Given the description of an element on the screen output the (x, y) to click on. 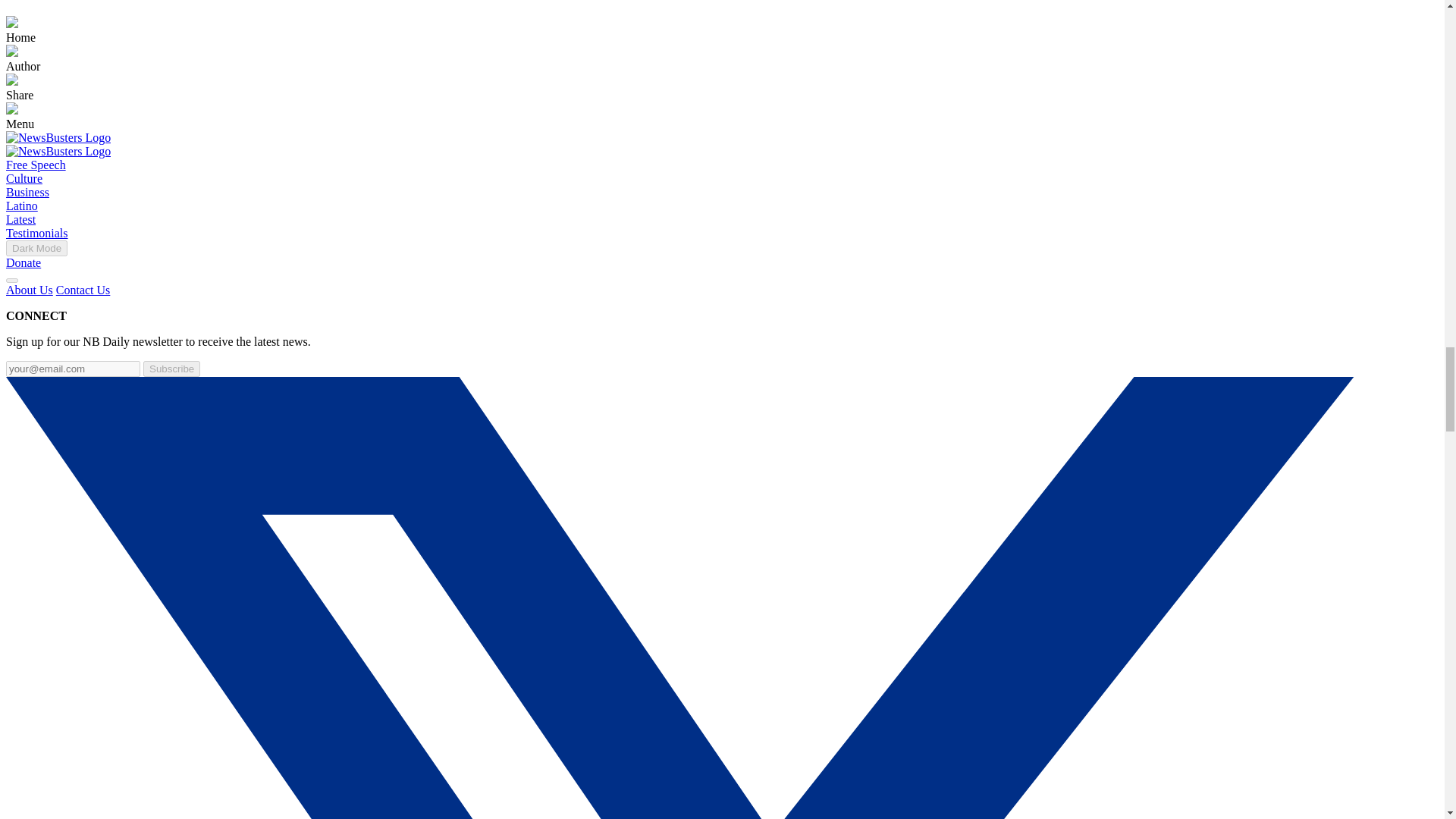
Dark Mode (35, 248)
Testimonials (36, 232)
Donate (22, 262)
